Given the description of an element on the screen output the (x, y) to click on. 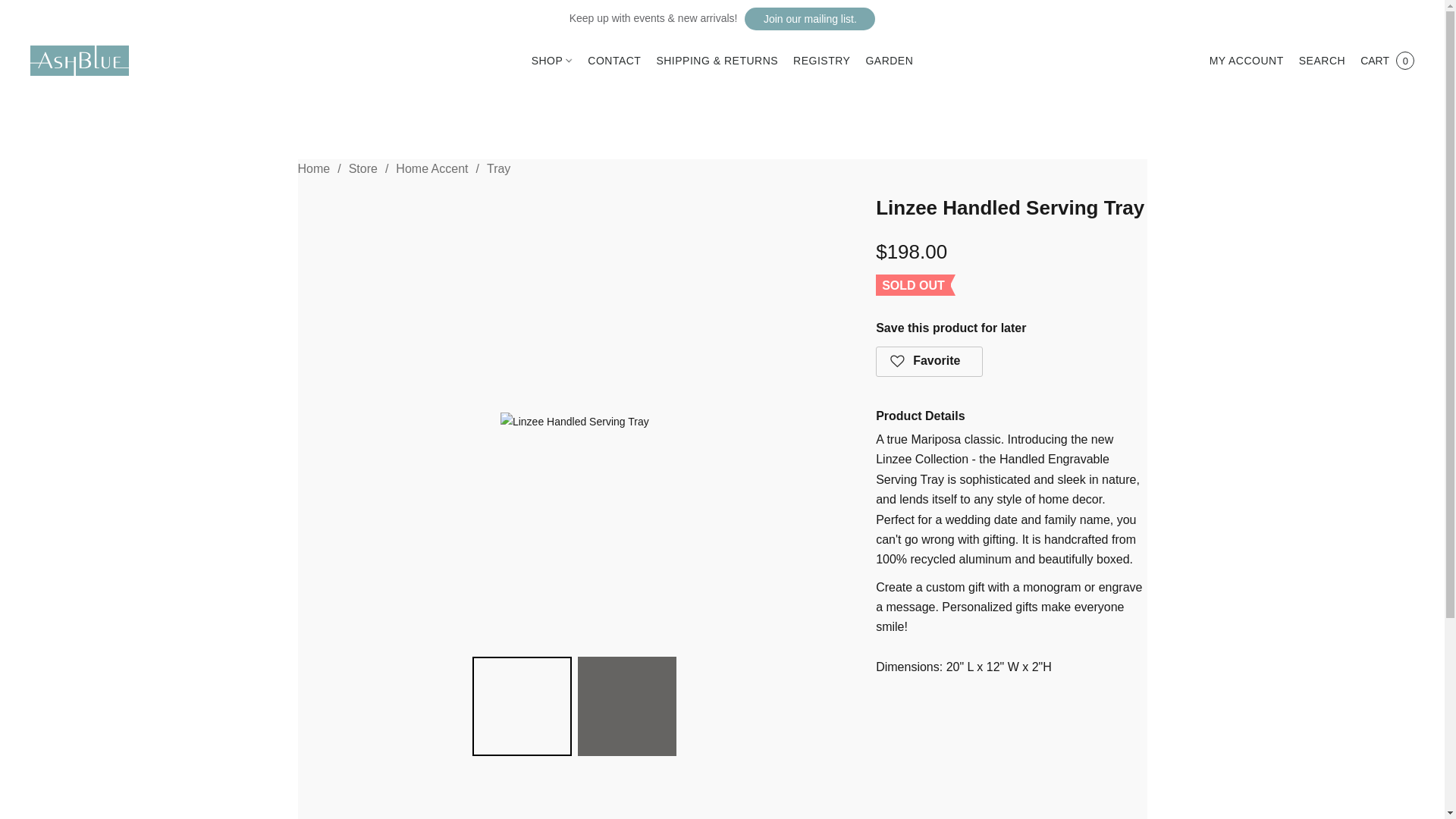
Home Accent (431, 168)
Home (313, 168)
Go to your shopping cart (1387, 60)
Linzee Handled Serving Tray (574, 421)
Store (363, 168)
Favorite (929, 361)
SHOP (555, 60)
Search the website (1321, 60)
Tray (498, 168)
GARDEN (884, 60)
Join our mailing list. (809, 18)
MY ACCOUNT (1246, 60)
CONTACT (613, 60)
REGISTRY (821, 60)
CART (1387, 60)
